Given the description of an element on the screen output the (x, y) to click on. 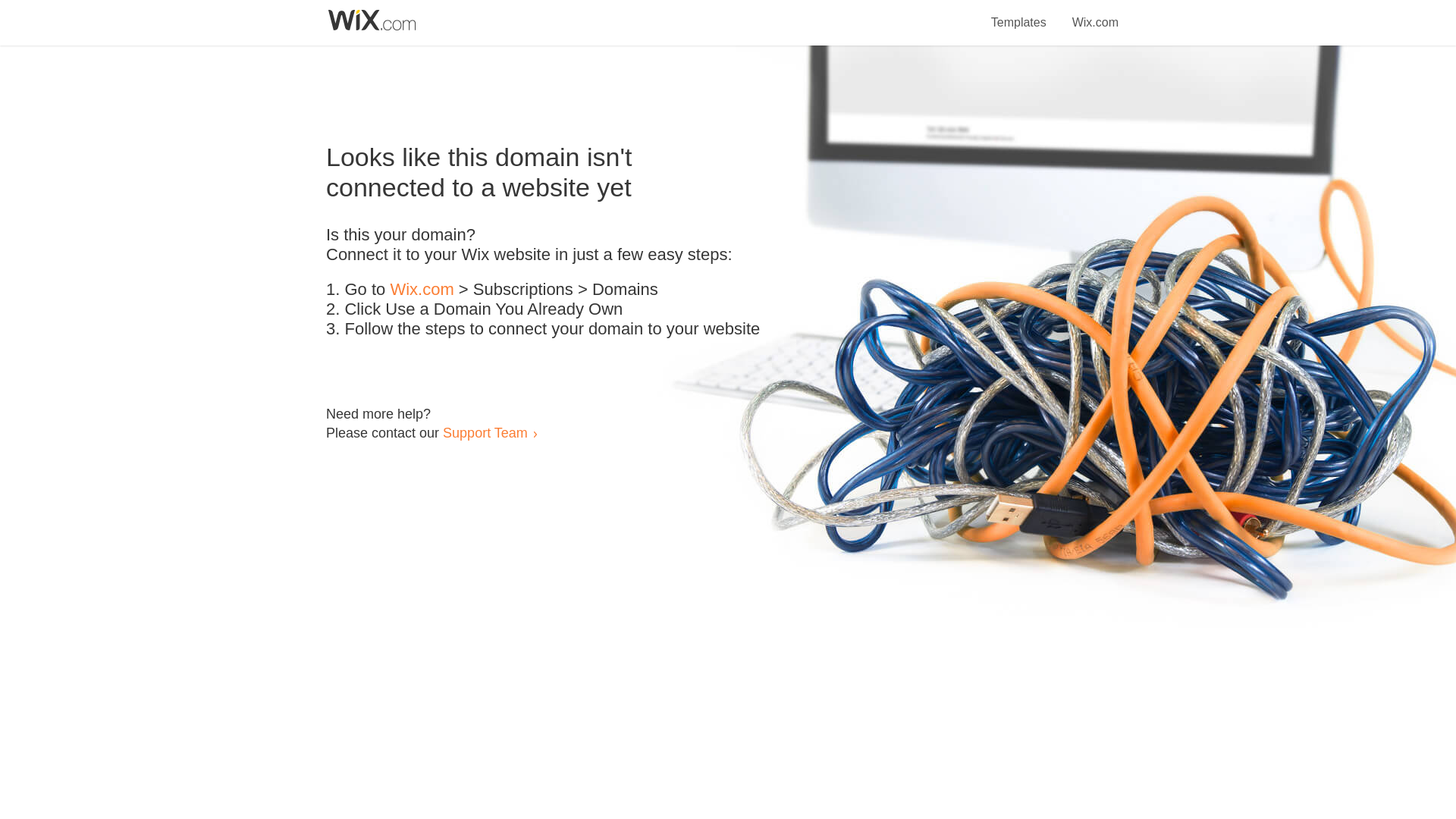
Templates (1018, 14)
Wix.com (1095, 14)
Wix.com (421, 289)
Support Team (484, 432)
